Given the description of an element on the screen output the (x, y) to click on. 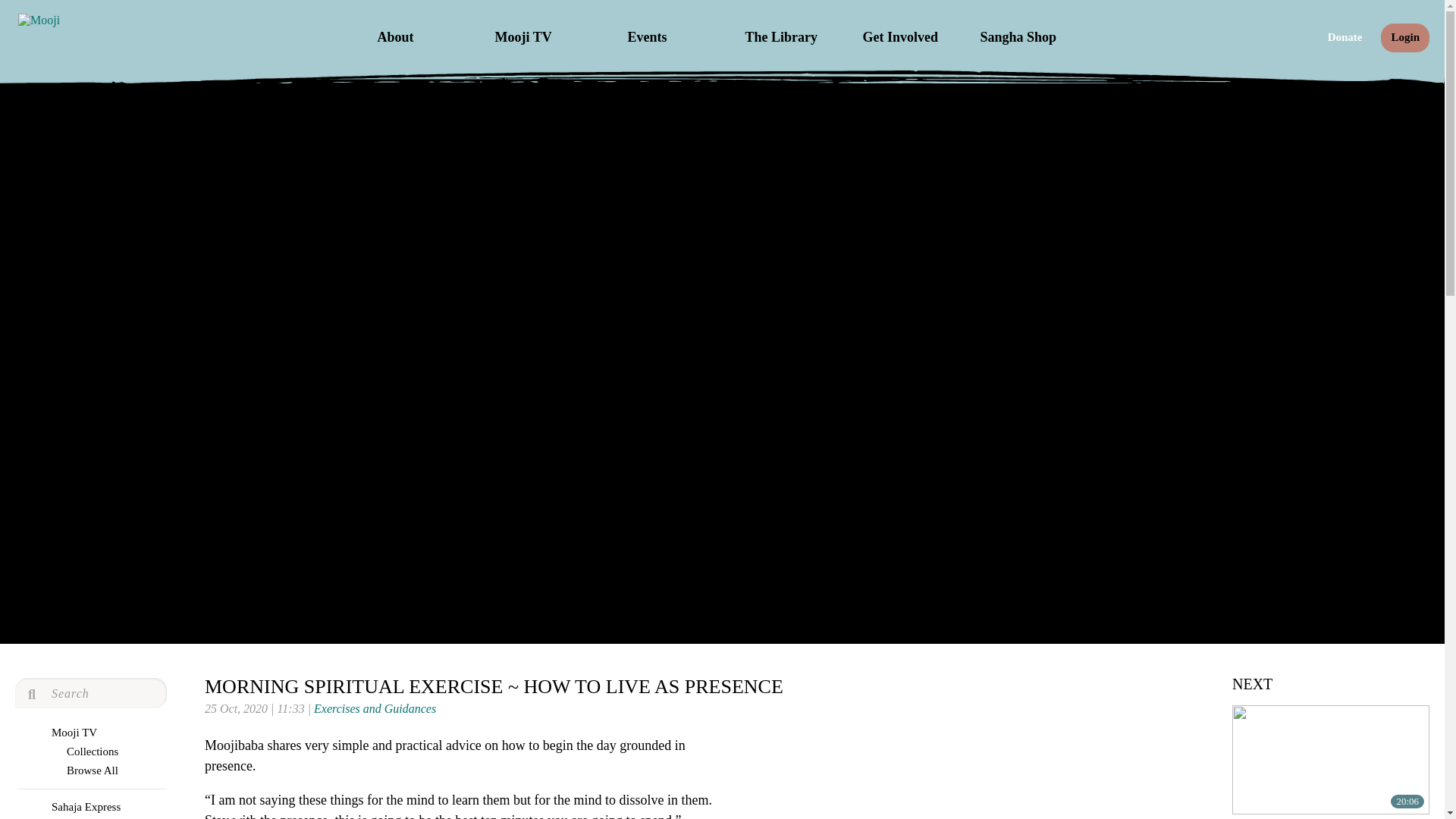
Mooji TV (538, 36)
Toggle audio only (1133, 693)
Login (1404, 37)
About (420, 36)
Donate (1344, 37)
Mooji (38, 20)
Get Involved (905, 36)
Sangha Shop (1023, 36)
The Library (788, 36)
Events (670, 36)
